Given the description of an element on the screen output the (x, y) to click on. 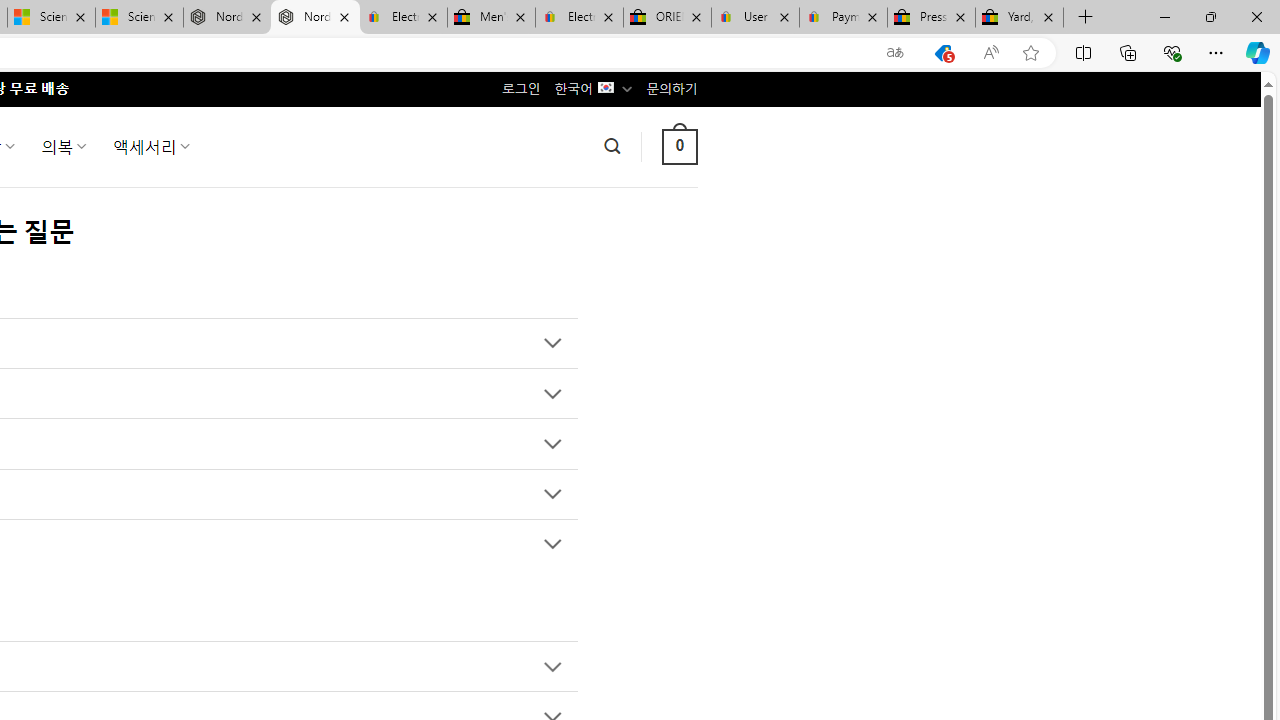
Yard, Garden & Outdoor Living (1019, 17)
 0  (679, 146)
User Privacy Notice | eBay (754, 17)
This site has coupons! Shopping in Microsoft Edge, 5 (943, 53)
